Given the description of an element on the screen output the (x, y) to click on. 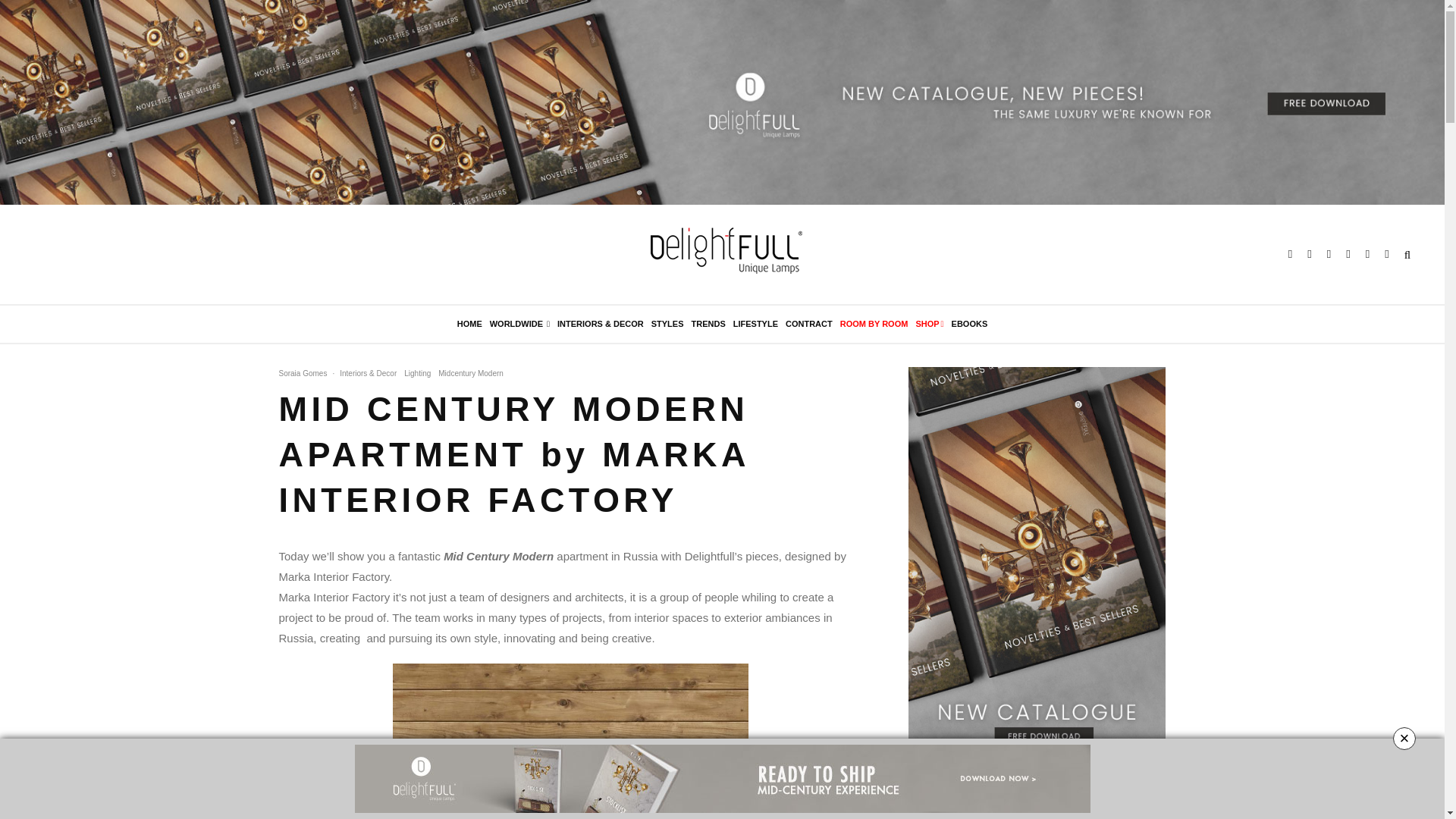
TRENDS (708, 324)
LIFESTYLE (755, 324)
WORLDWIDE (519, 324)
Soraia Gomes (303, 373)
Midcentury Modern (470, 373)
Lighting (417, 373)
ROOM BY ROOM (873, 324)
EBOOKS (969, 324)
STYLES (667, 324)
SHOP (929, 324)
CONTRACT (808, 324)
SHOP (929, 324)
